Given the description of an element on the screen output the (x, y) to click on. 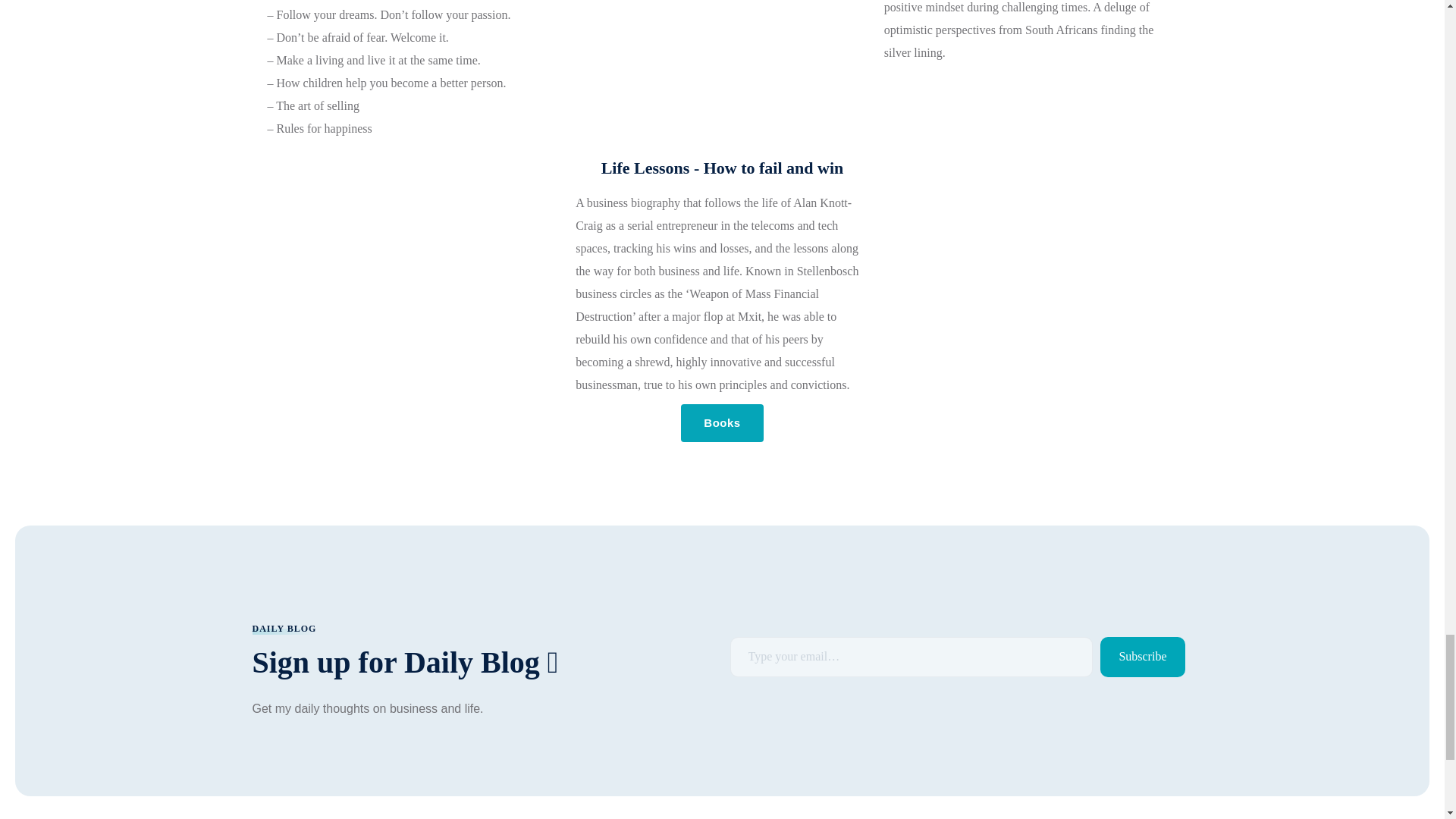
Books (721, 423)
Subscribe (1142, 657)
Please fill in this field. (911, 657)
